Given the description of an element on the screen output the (x, y) to click on. 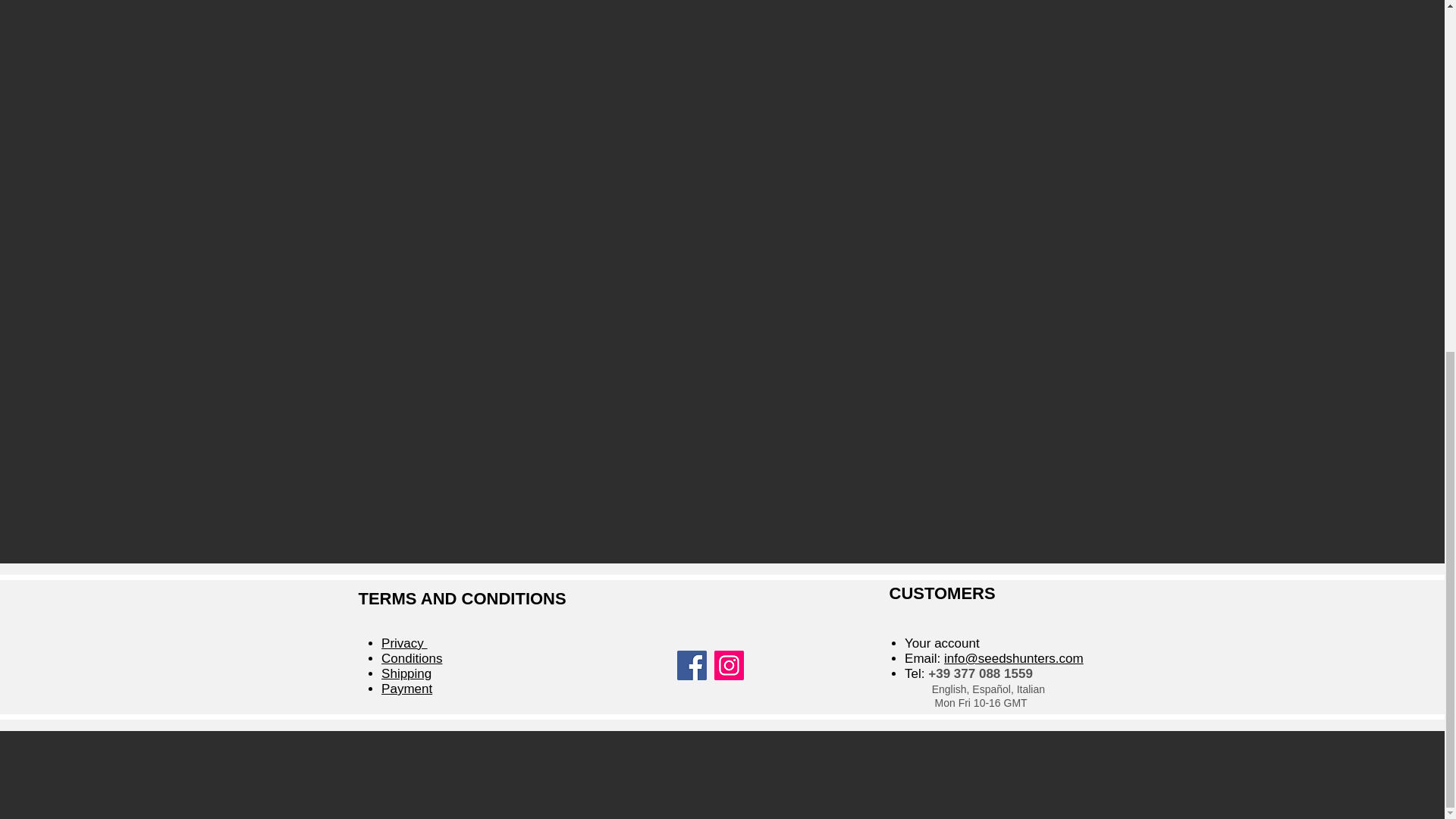
Shipping (405, 673)
Conditions (411, 658)
Privacy  (403, 643)
Payment (406, 688)
